Given the description of an element on the screen output the (x, y) to click on. 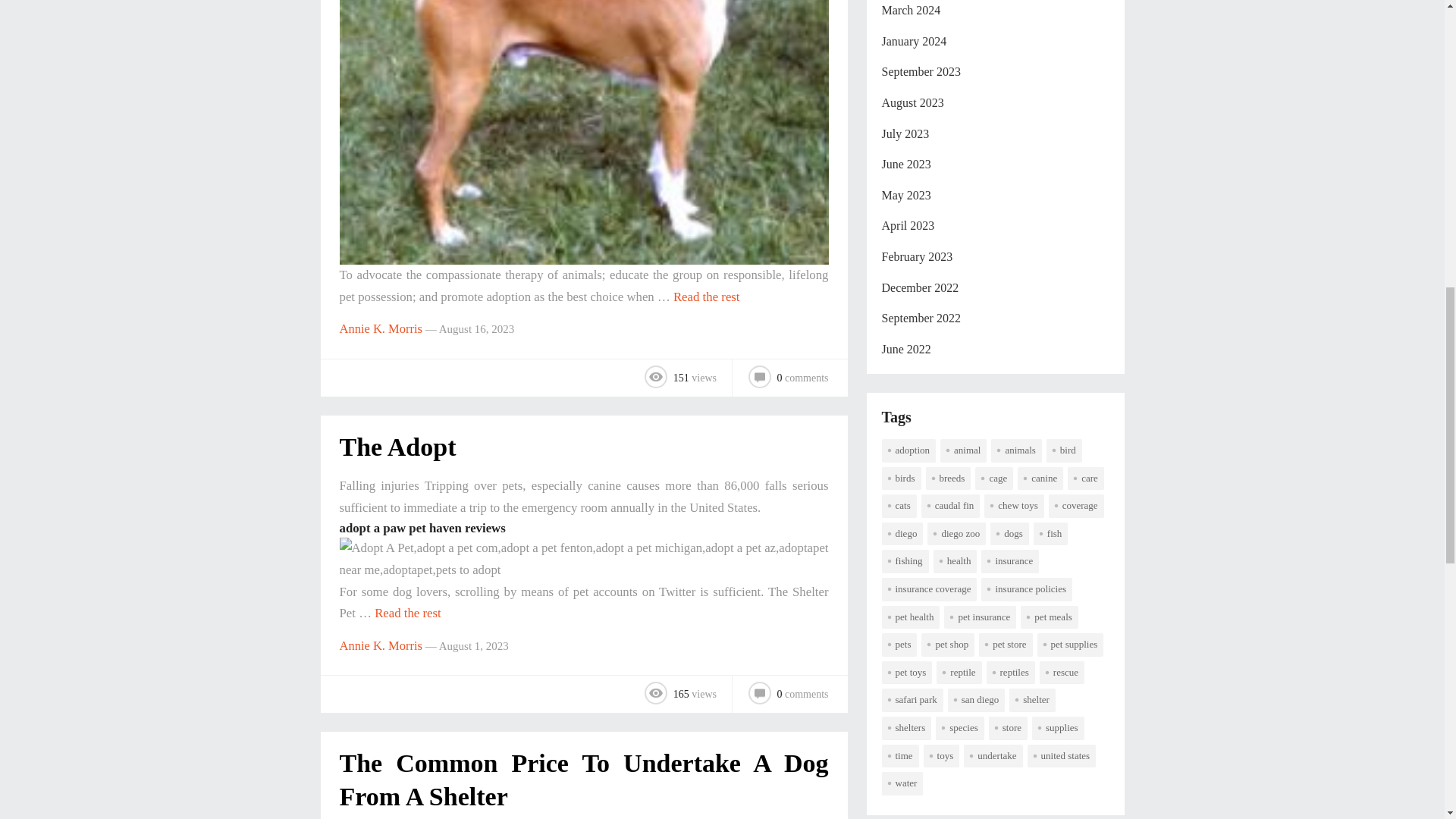
Posts by Annie K. Morris (381, 328)
Posts by Annie K. Morris (381, 645)
